Given the description of an element on the screen output the (x, y) to click on. 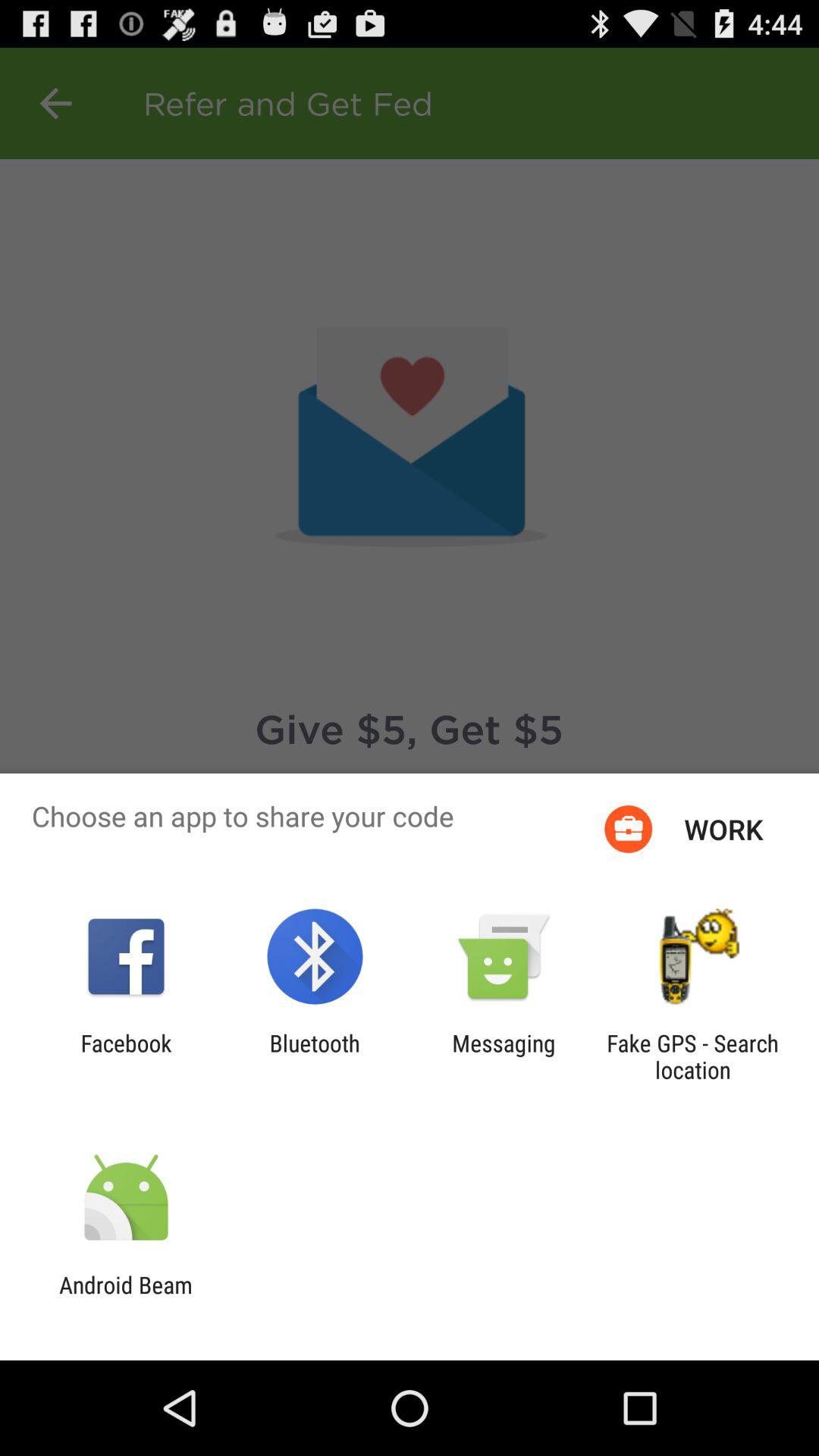
scroll to android beam icon (125, 1298)
